Given the description of an element on the screen output the (x, y) to click on. 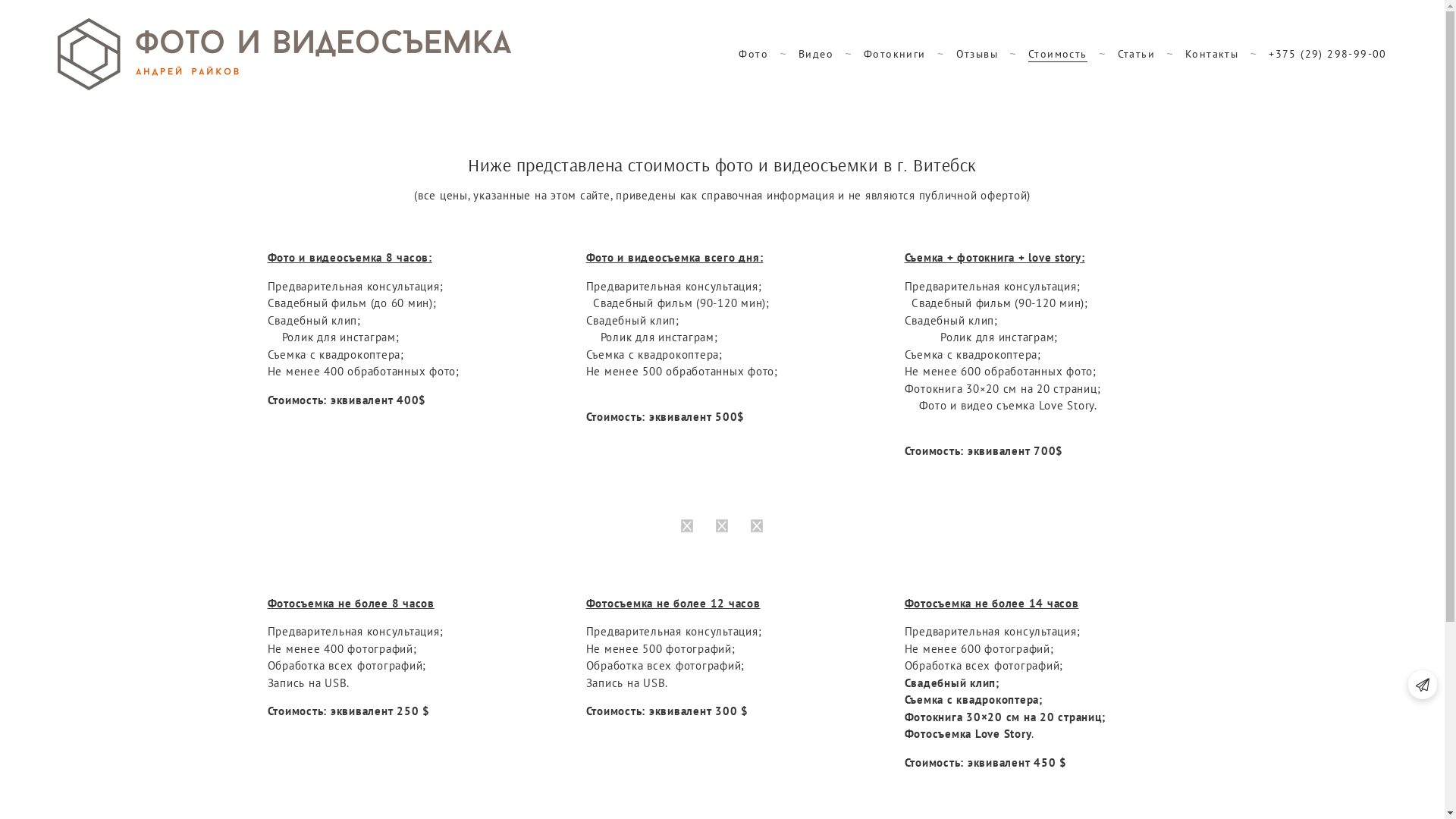
+375 (29) 298-99-00 Element type: text (1327, 53)
